Given the description of an element on the screen output the (x, y) to click on. 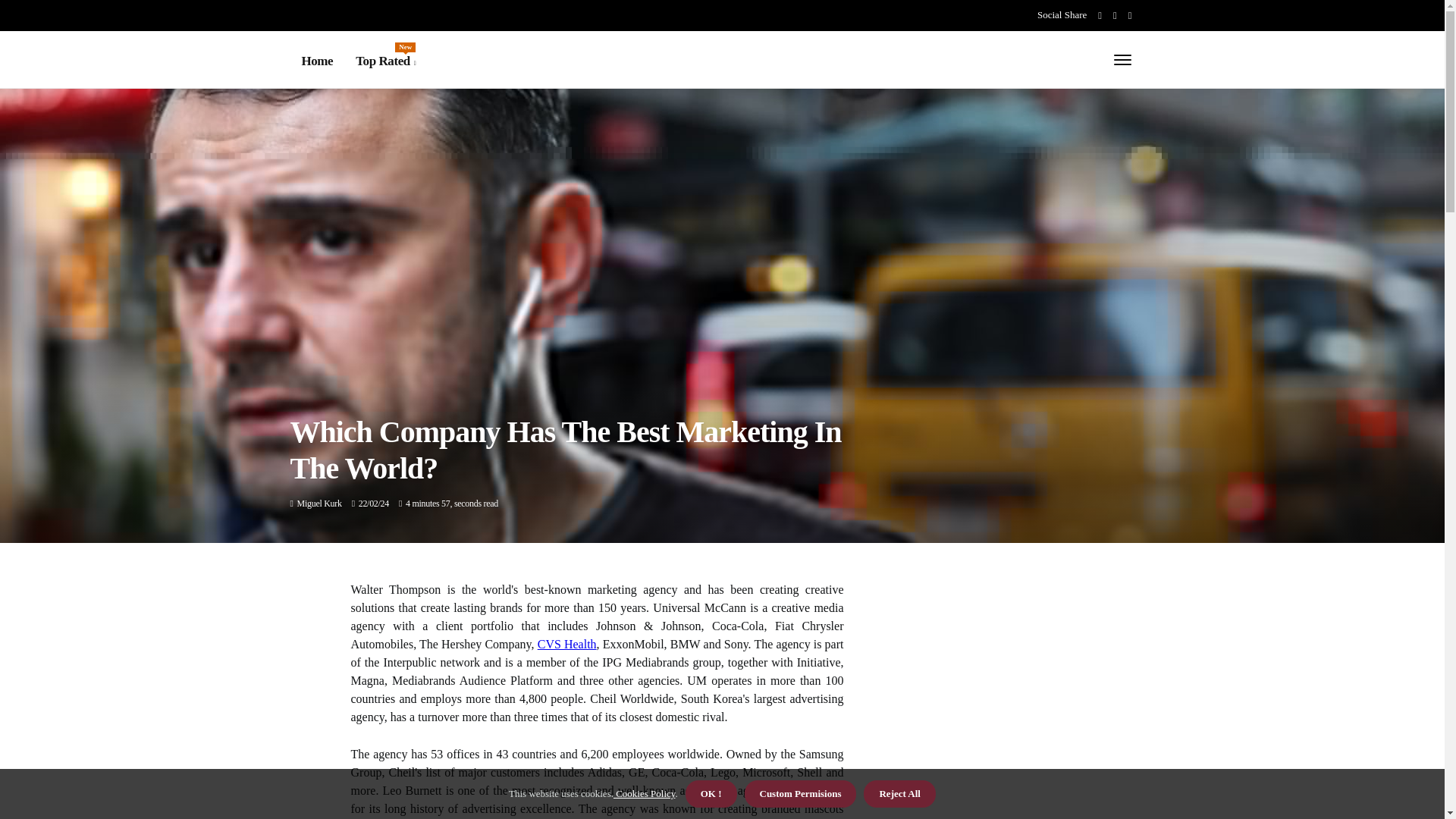
Miguel Kurk (319, 502)
Posts by Miguel Kurk (319, 502)
CVS Health (384, 61)
